Given the description of an element on the screen output the (x, y) to click on. 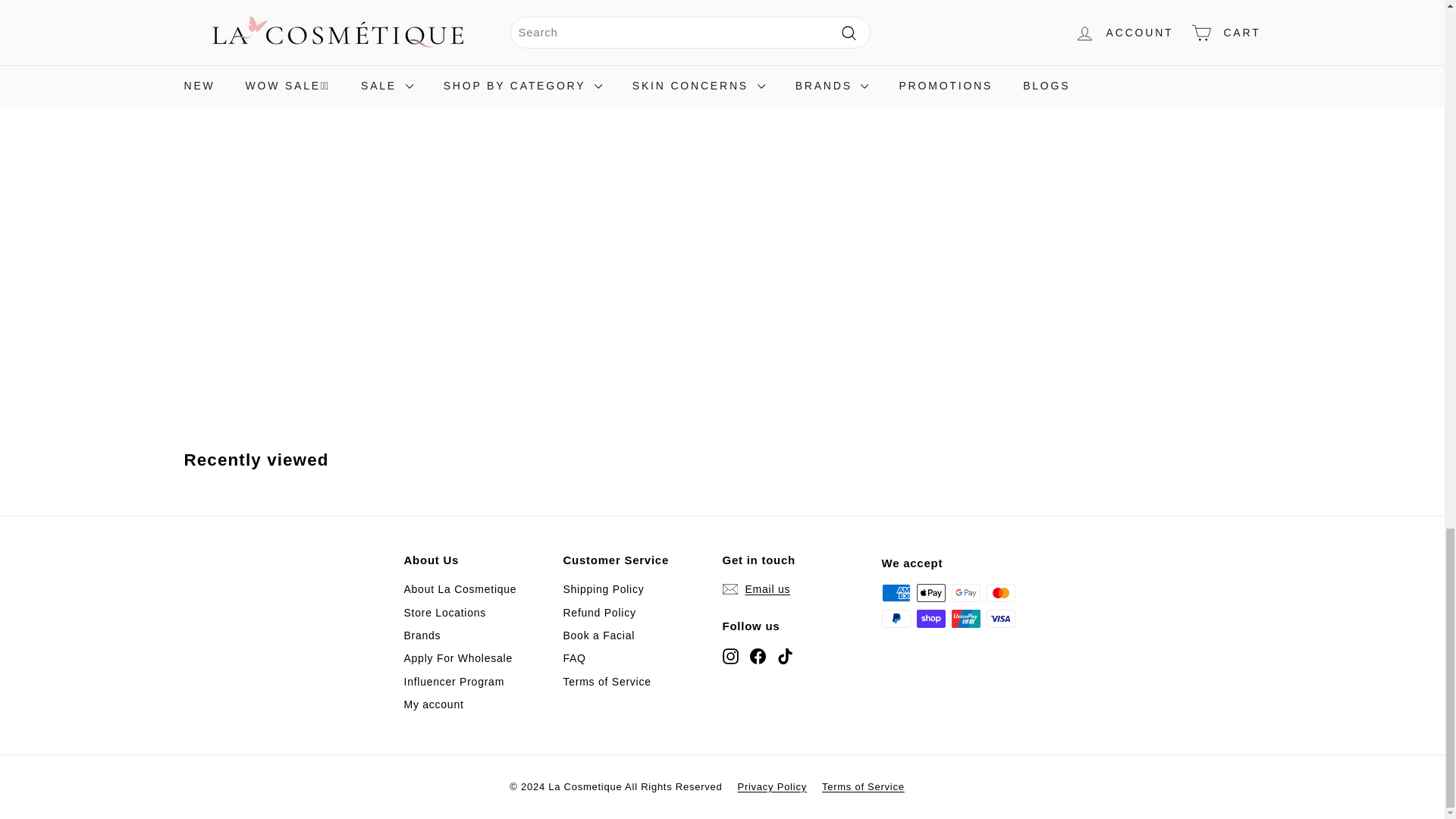
La Cosmetique on Instagram (730, 655)
